Given the description of an element on the screen output the (x, y) to click on. 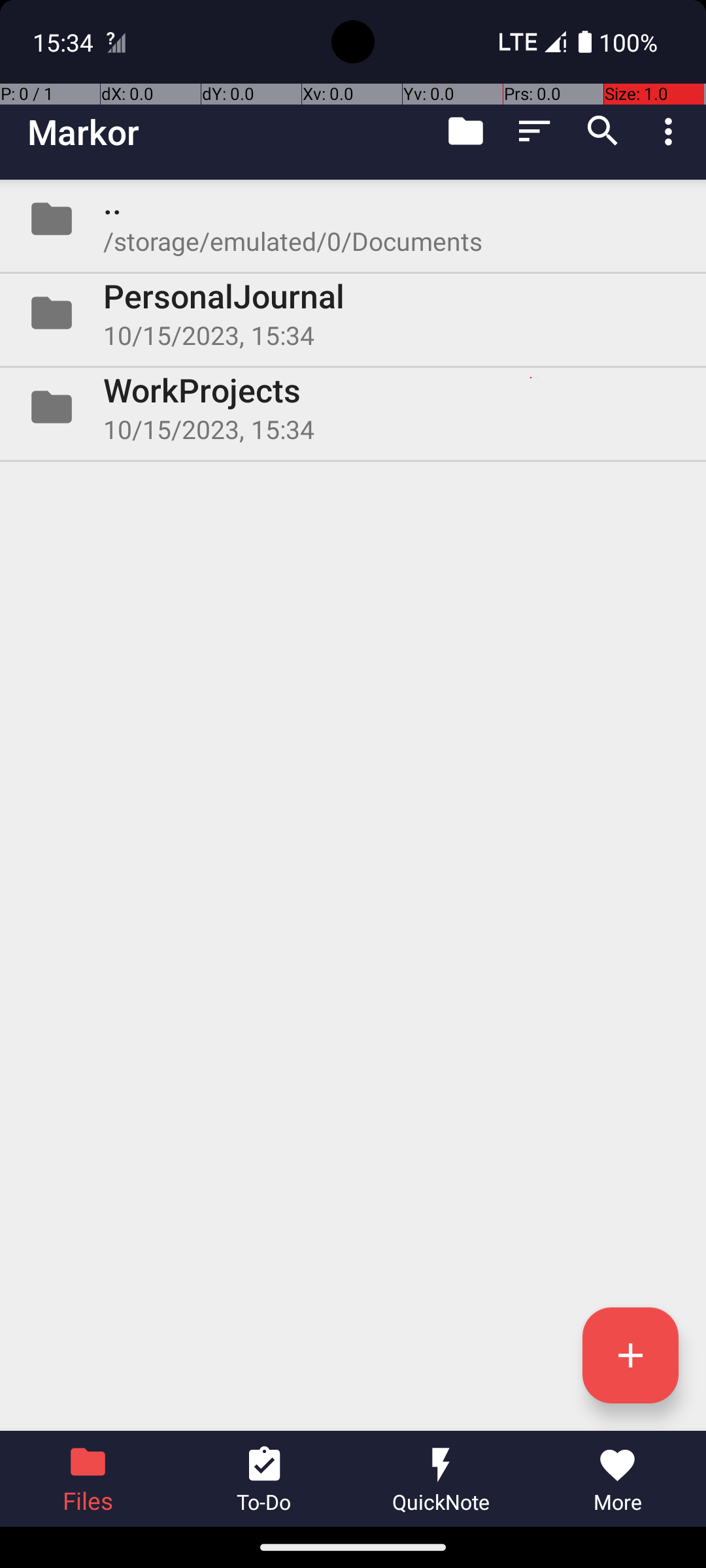
Folder PersonalJournal  Element type: android.widget.LinearLayout (353, 312)
Folder WorkProjects  Element type: android.widget.LinearLayout (353, 406)
